Given the description of an element on the screen output the (x, y) to click on. 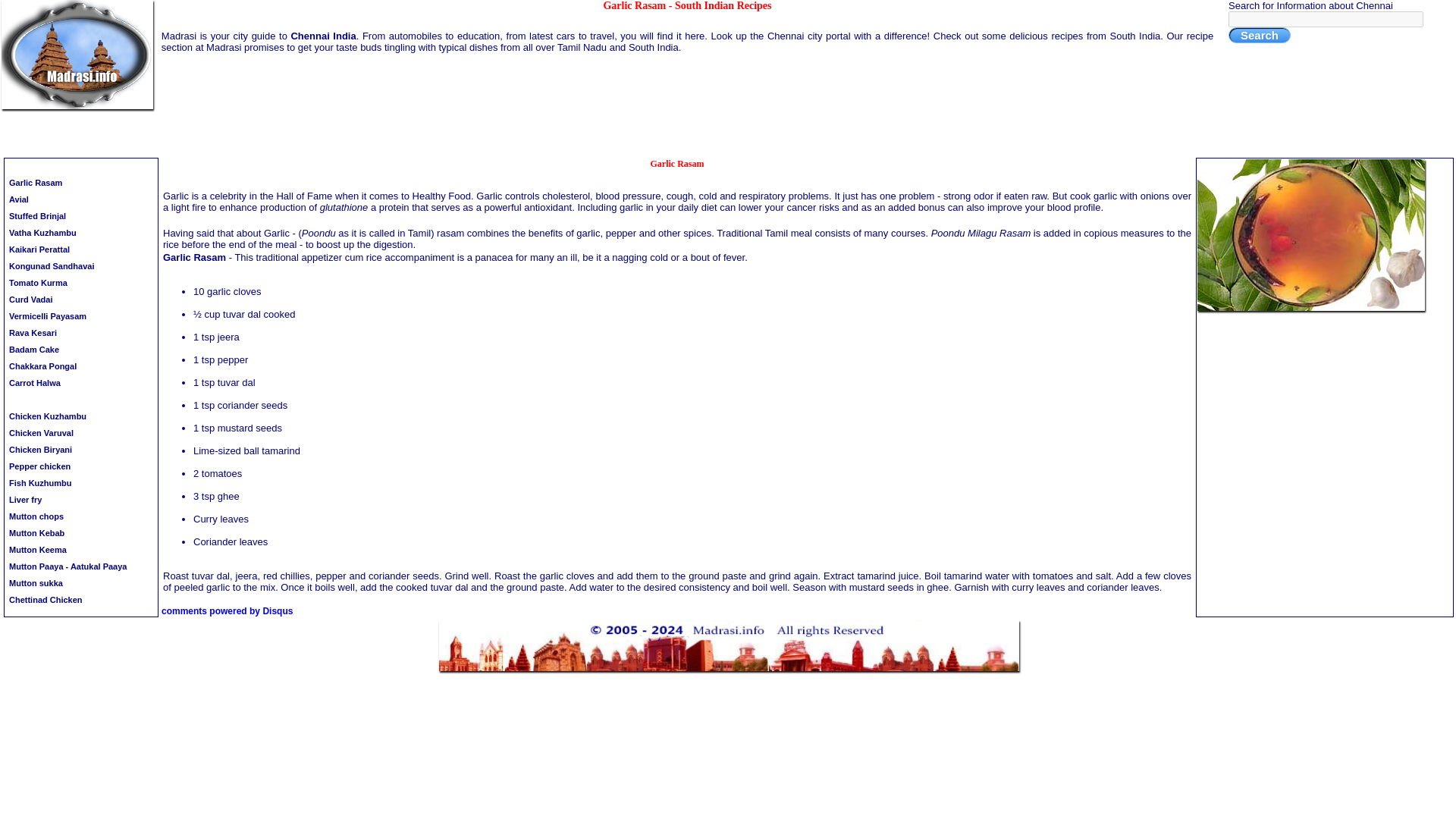
Cars in India (1376, 144)
Search (1259, 35)
Vatha Kuzhambu (81, 234)
Stuffed Brinjal - South Indian Recipes (81, 217)
Chennai Entertainment (1041, 144)
Rava Kesari (81, 334)
Recreation (1041, 144)
Tomato Kurma (81, 284)
Chicken Biryani (81, 451)
Mutton Kebab (81, 534)
Chennai City (901, 144)
Liver fry (81, 501)
Garlic Rasam (81, 184)
Vatha Kuzhambu - South Indian Recipes (81, 234)
Mutton Paaya - Aatukal Paaya (81, 567)
